Given the description of an element on the screen output the (x, y) to click on. 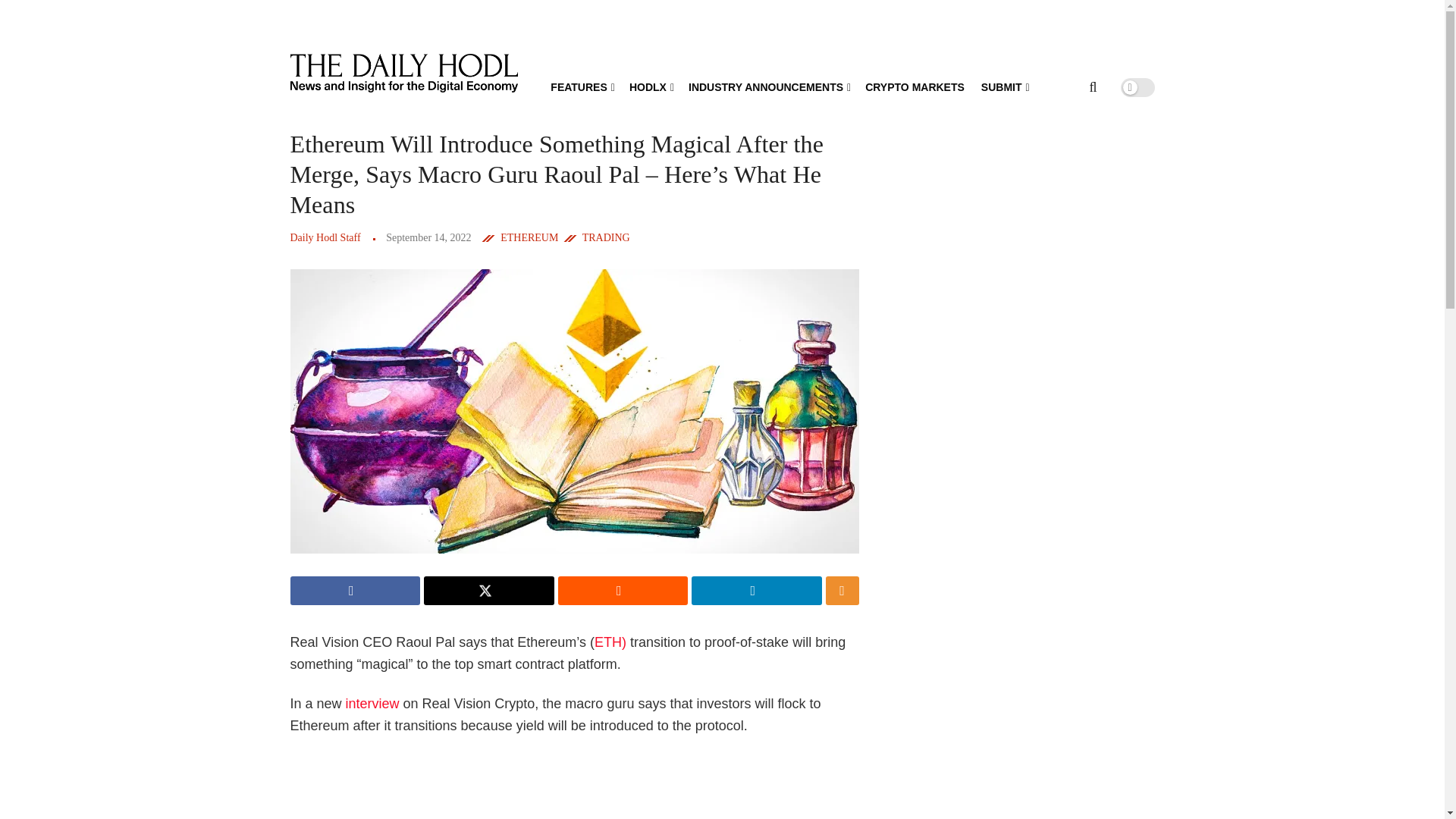
FEATURES (581, 86)
INDUSTRY ANNOUNCEMENTS (768, 86)
HODLX (649, 86)
Advertisement (581, 786)
CRYPTO MARKETS (913, 86)
SUBMIT (1004, 86)
